Given the description of an element on the screen output the (x, y) to click on. 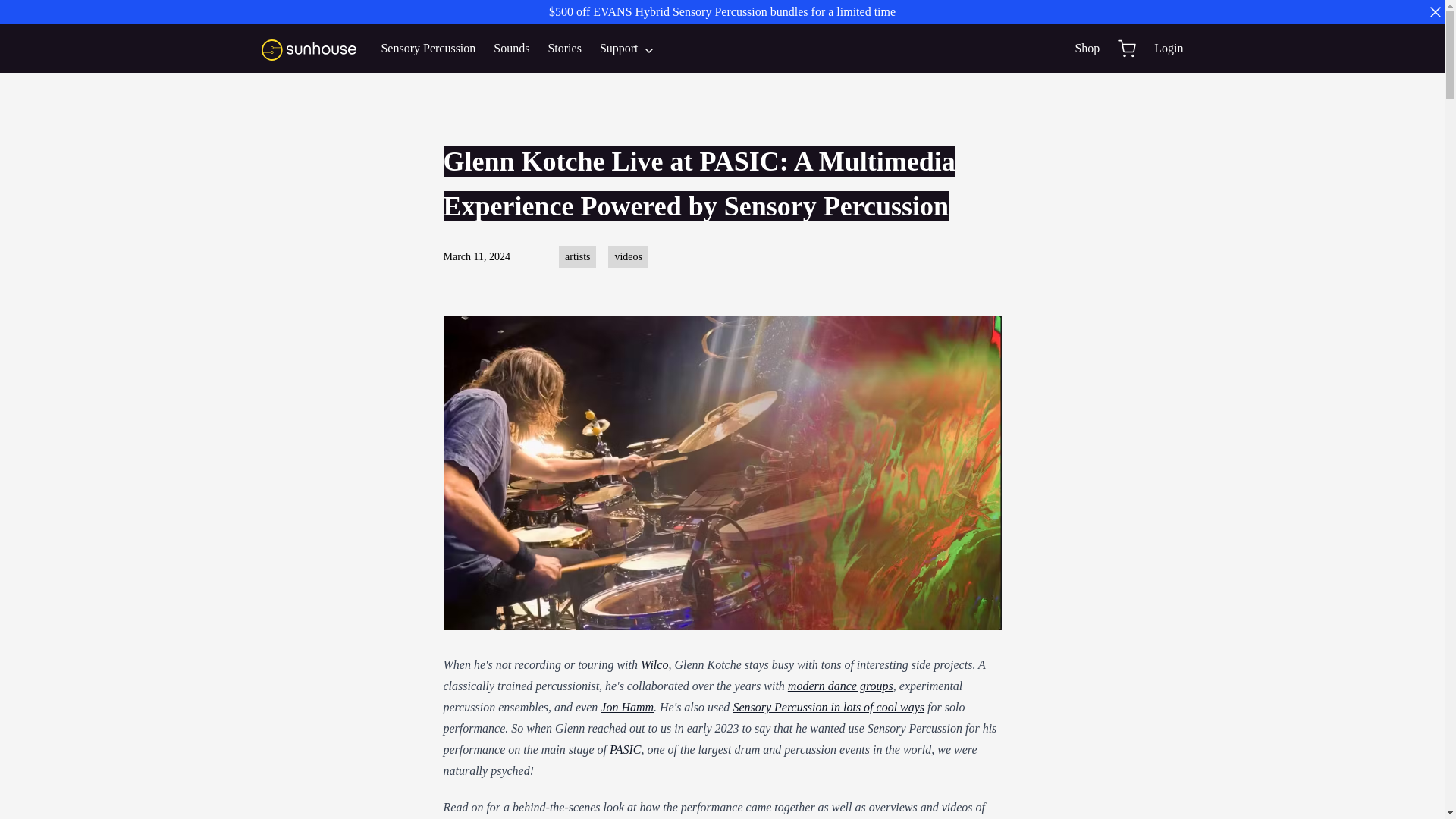
PASIC (625, 748)
Sensory Percussion in lots of cool ways (828, 707)
modern dance groups (840, 685)
Wilco (654, 664)
Login (1168, 48)
Jon Hamm (626, 707)
Sunhouse (311, 48)
Stories (563, 48)
Sounds (511, 48)
Shop (1086, 48)
Support (627, 48)
Sensory Percussion (428, 48)
